Given the description of an element on the screen output the (x, y) to click on. 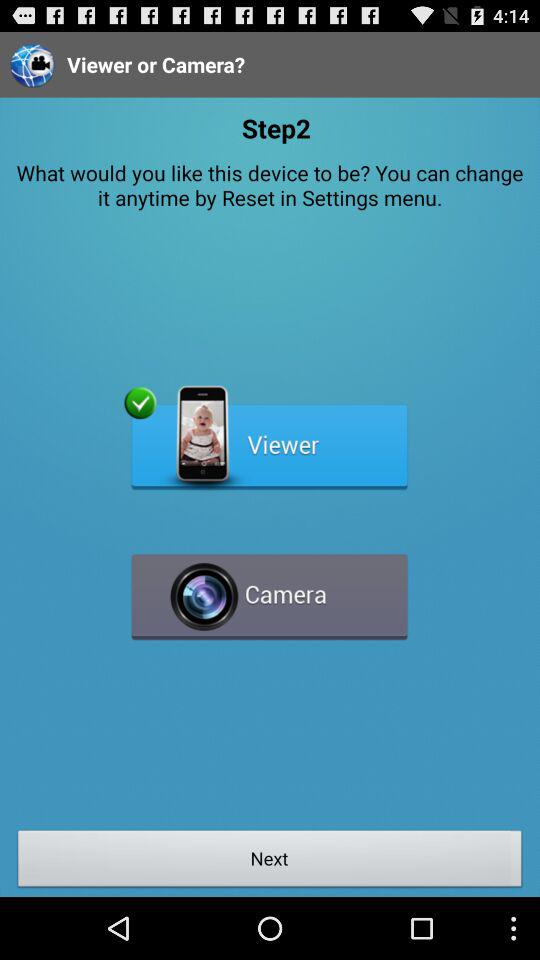
use this phone as a viewer (269, 438)
